Given the description of an element on the screen output the (x, y) to click on. 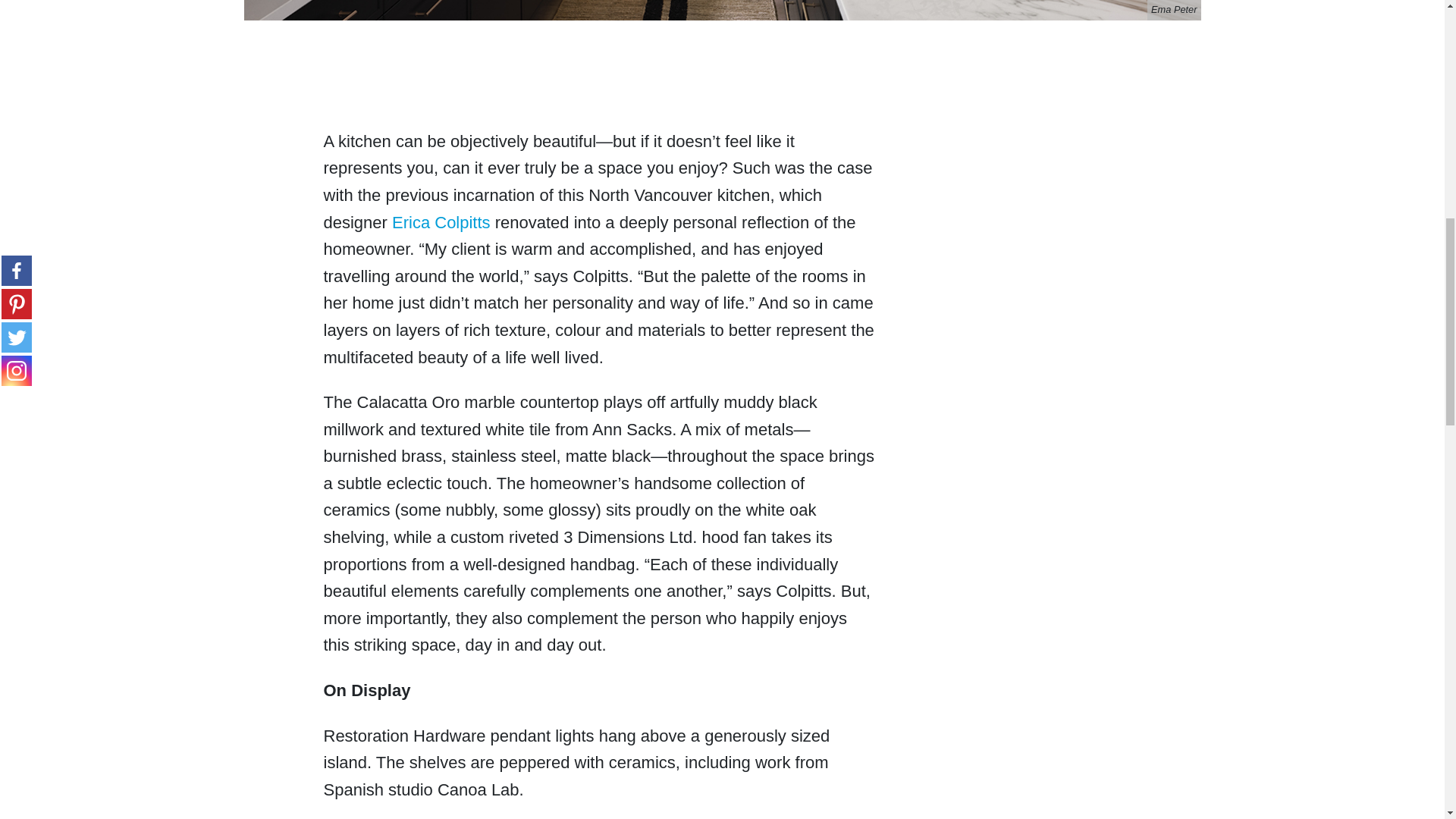
3rd party ad content (1084, 329)
3rd party ad content (599, 78)
3rd party ad content (1084, 126)
